Given the description of an element on the screen output the (x, y) to click on. 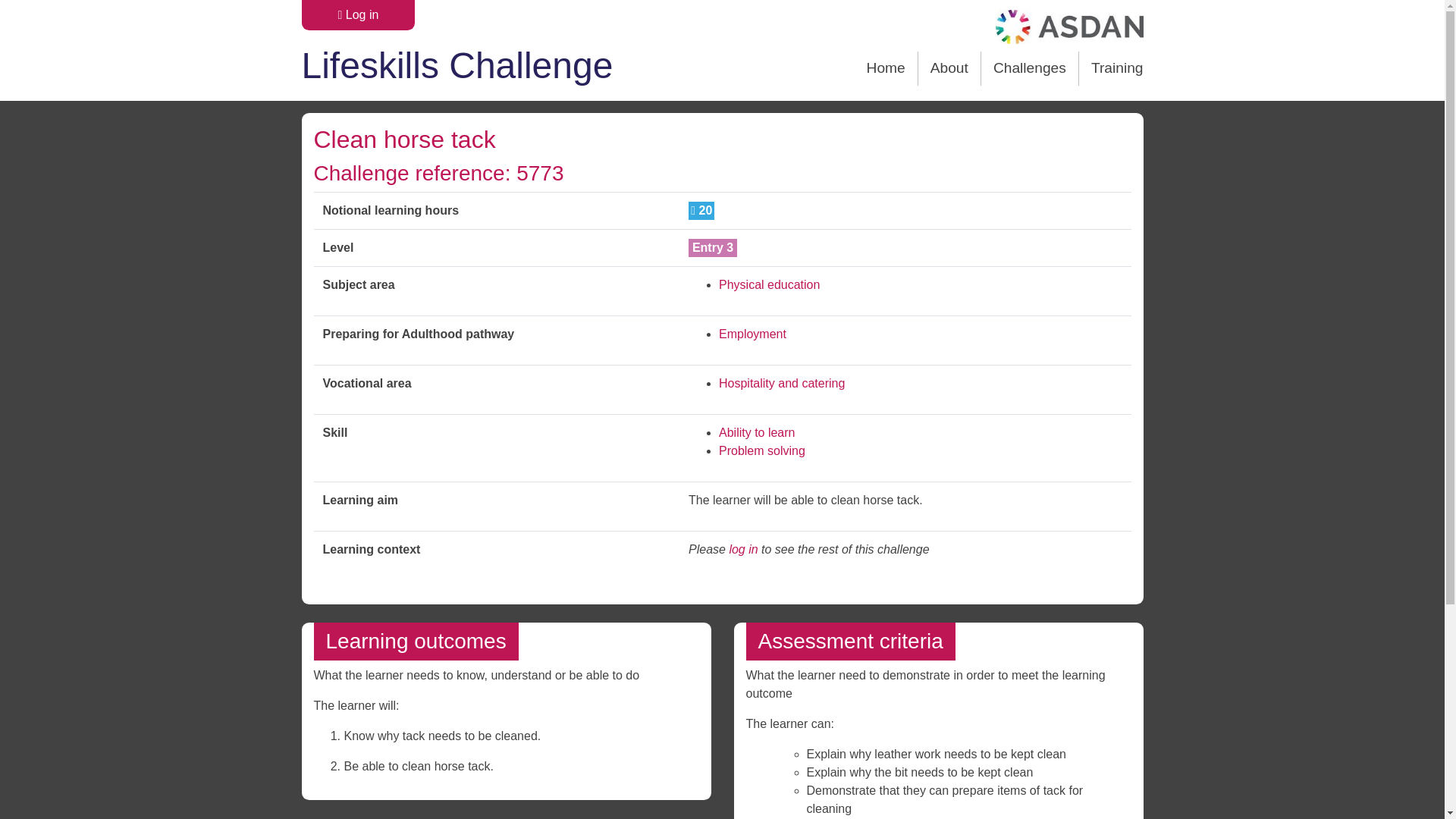
Problem solving (762, 450)
Log in (357, 15)
Hospitality and catering (781, 382)
Physical education (769, 284)
About (948, 68)
log in (743, 549)
Ability to learn (756, 431)
Challenges (1029, 68)
Training (1110, 68)
Employment (752, 333)
